Given the description of an element on the screen output the (x, y) to click on. 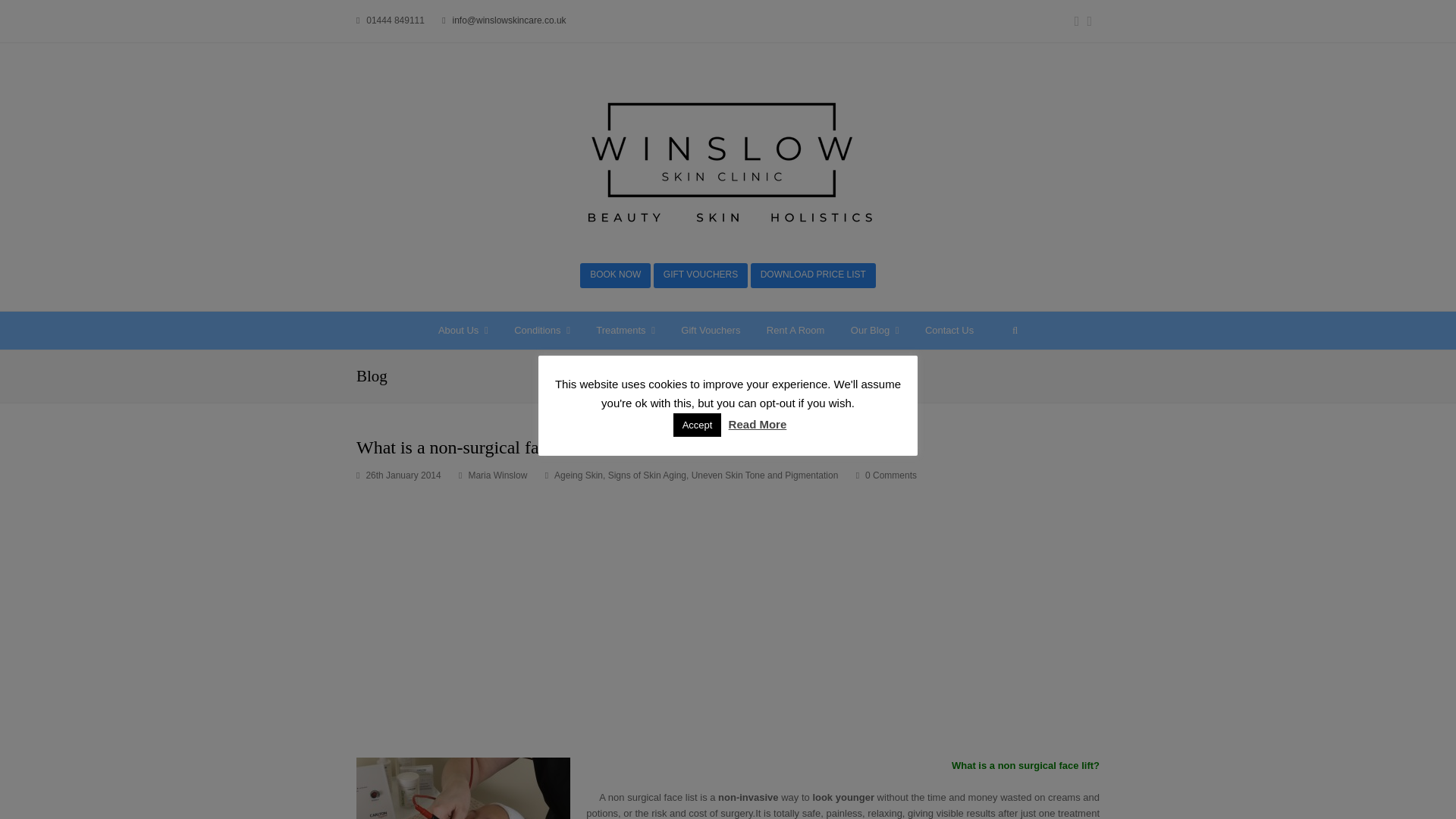
DOWNLOAD PRICE LIST (813, 275)
GIFT VOUCHERS (700, 275)
0 Comments (886, 476)
Posts by Maria Winslow (497, 475)
Treatments (625, 330)
About Us (462, 330)
BOOK NOW (614, 275)
Conditions (542, 330)
